Given the description of an element on the screen output the (x, y) to click on. 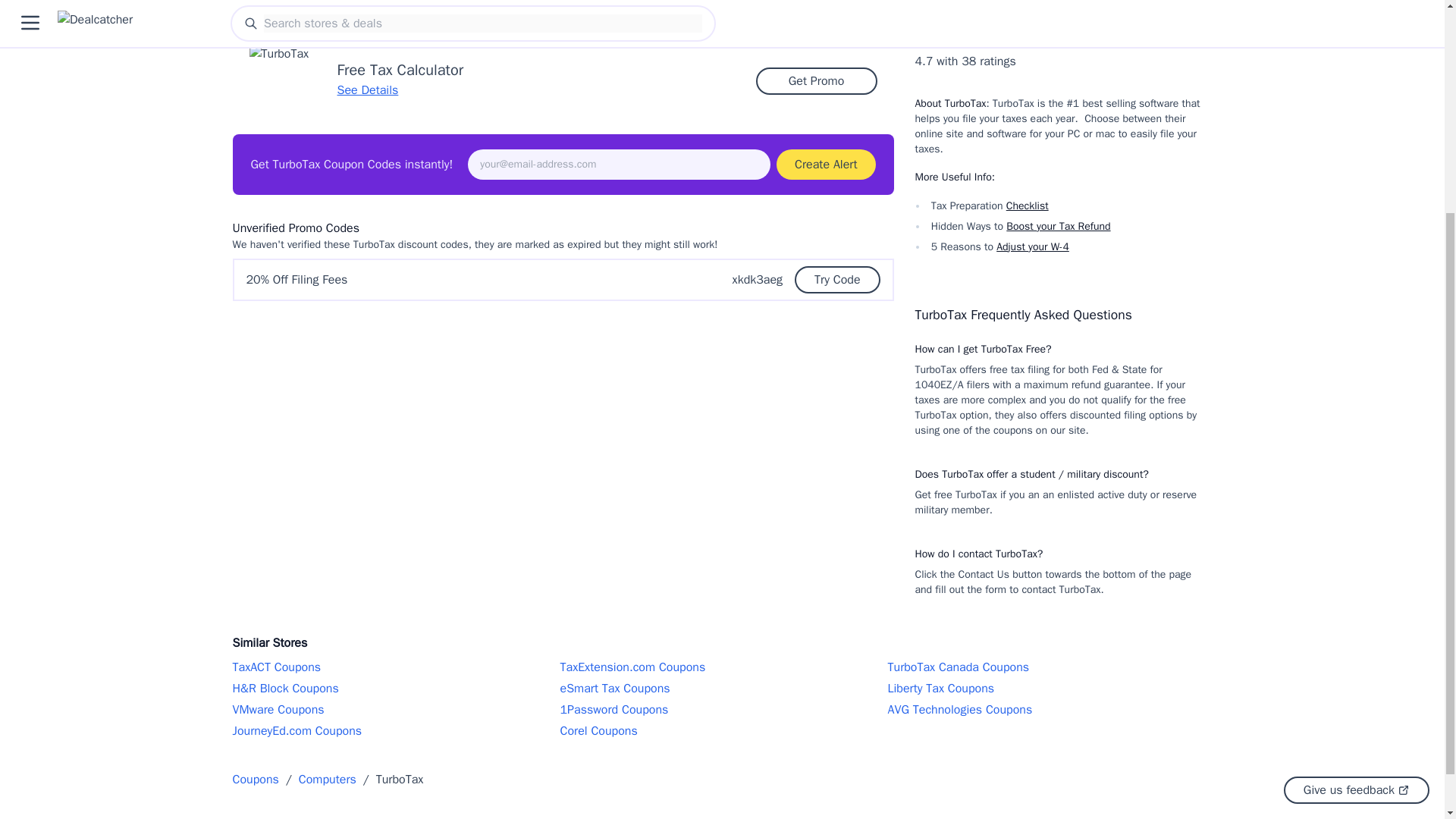
Liberty Tax Coupons (1048, 688)
eSmart Tax Coupons (721, 688)
1Password Coupons (721, 710)
VMware Coupons (393, 710)
TaxExtension.com Coupons (721, 667)
Boost your Tax Refund (1057, 225)
TaxACT Coupons (393, 667)
TurboTax Canada Coupons (1048, 667)
Checklist (1027, 205)
Adjust your W-4 (1031, 246)
Create Alert (825, 164)
